Given the description of an element on the screen output the (x, y) to click on. 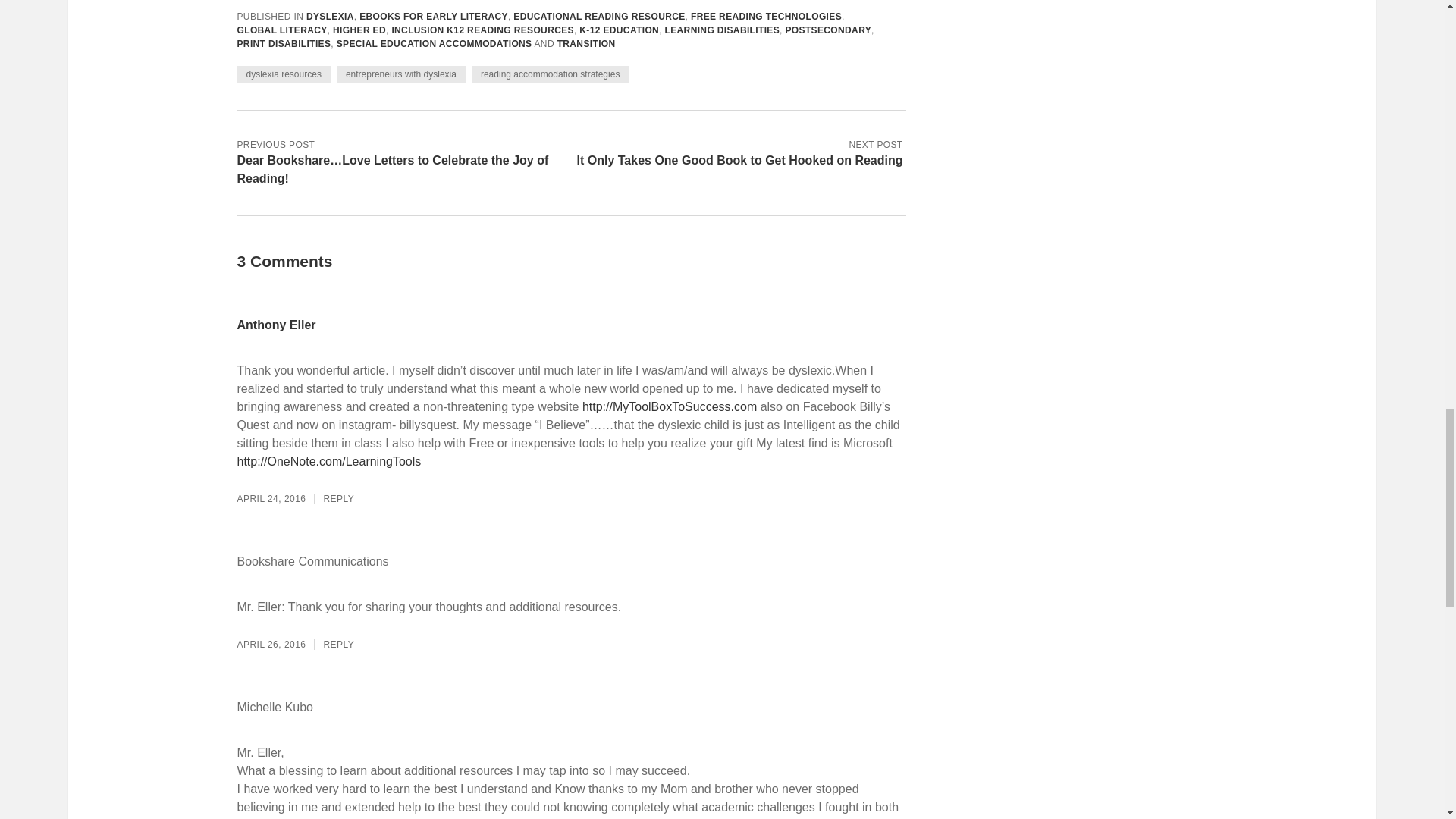
entrepreneurs with dyslexia (400, 74)
REPLY (338, 498)
View all posts tagged dyslexia resources (282, 74)
View all posts in Special Education Accommodations (434, 43)
View all posts in Educational reading resource (598, 16)
View all posts in free reading technologies (765, 16)
LEARNING DISABILITIES (722, 30)
INCLUSION K12 READING RESOURCES (482, 30)
View all posts in Higher ed (359, 30)
View all posts tagged entrepreneurs with dyslexia (400, 74)
DYSLEXIA (329, 16)
GLOBAL LITERACY (280, 30)
View all posts in postsecondary (829, 30)
View all posts in ebooks for early literacy (433, 16)
POSTSECONDARY (829, 30)
